Given the description of an element on the screen output the (x, y) to click on. 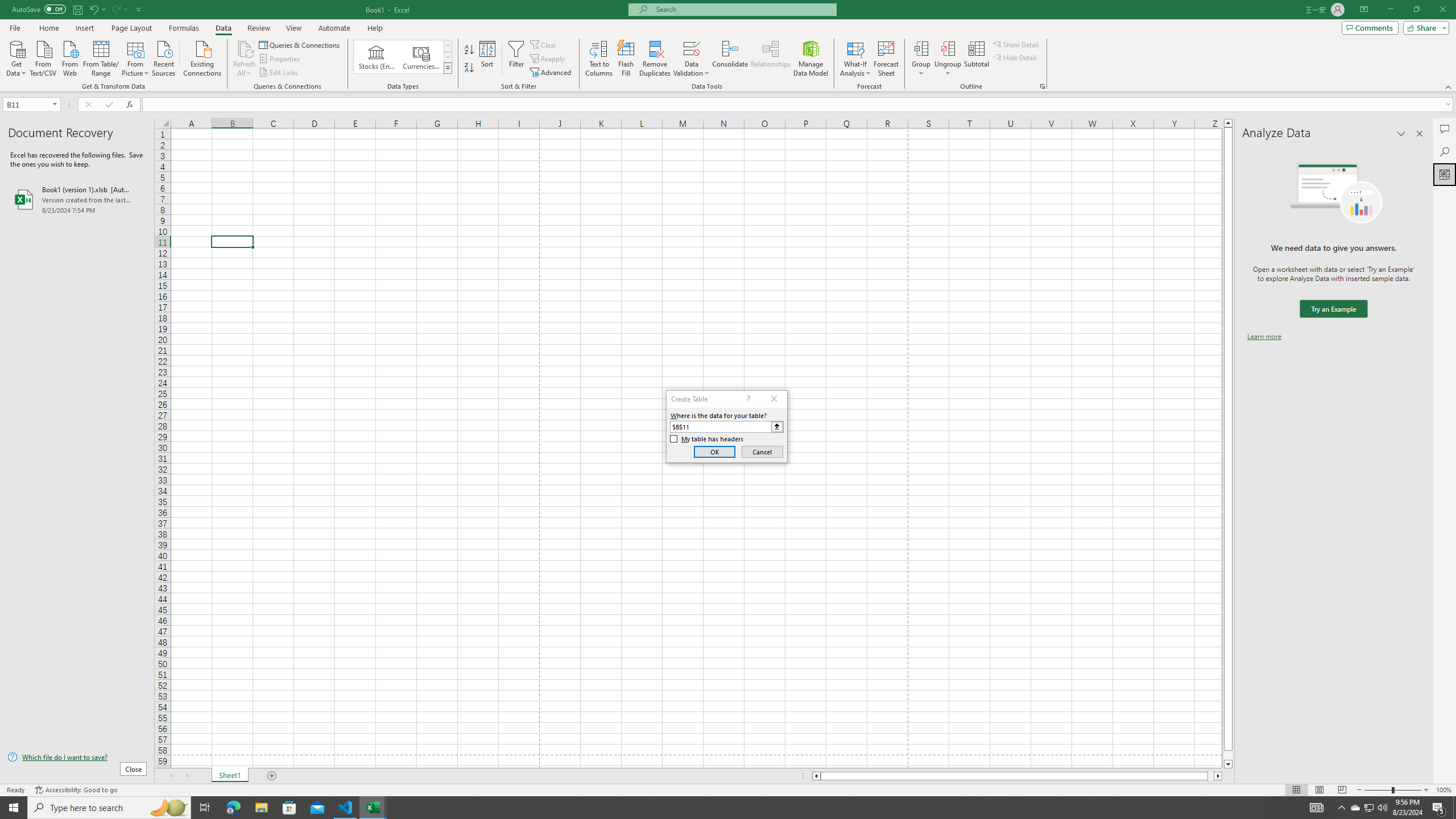
Reapply (548, 58)
What-If Analysis (855, 58)
From Text/CSV (43, 57)
Manage Data Model (810, 58)
Recent Sources (163, 57)
From Table/Range (100, 57)
Analyze Data (1444, 173)
